Given the description of an element on the screen output the (x, y) to click on. 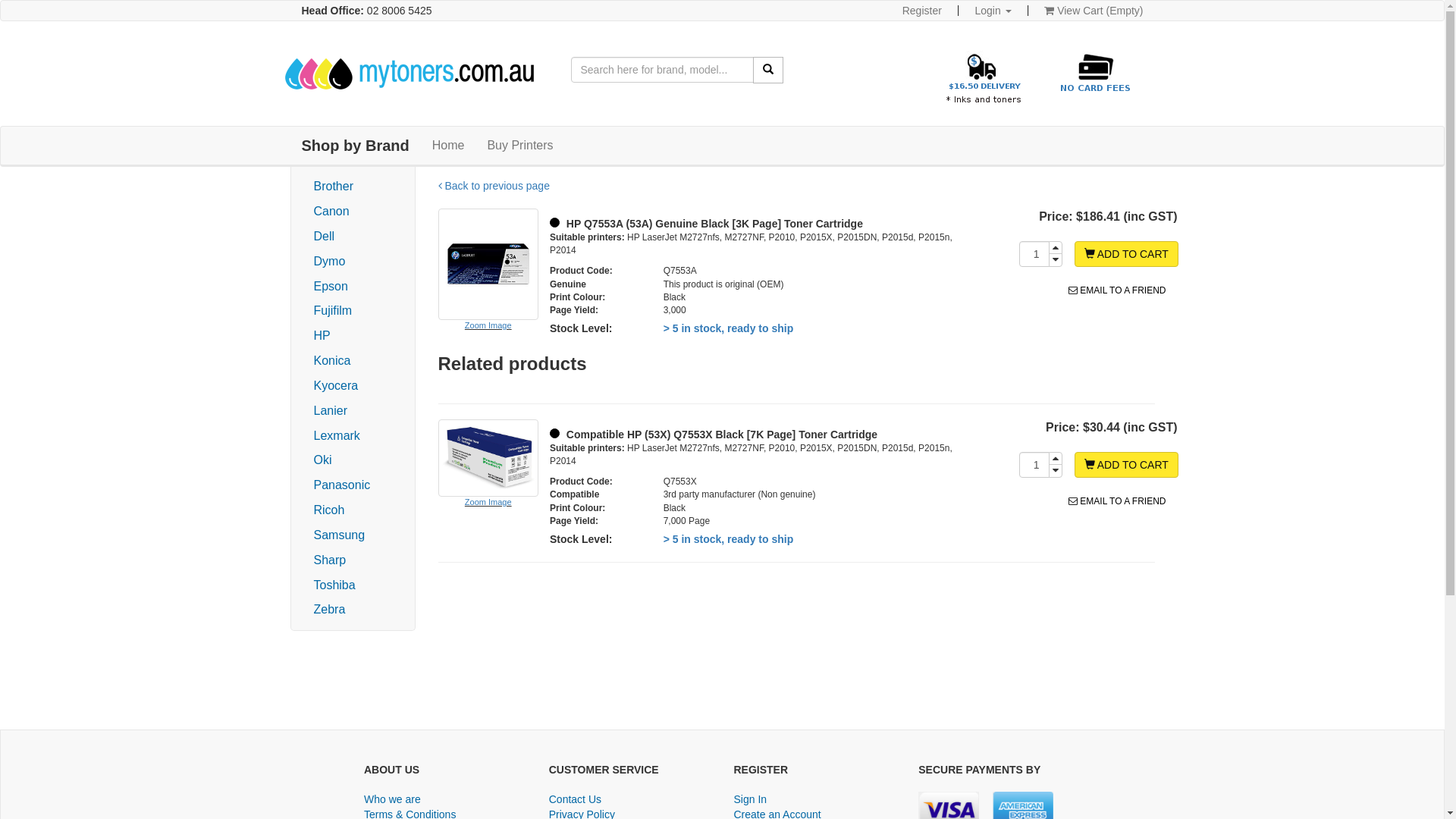
Lanier Element type: text (330, 410)
submit Element type: text (768, 69)
Canon Element type: text (331, 210)
Contact Us Element type: text (575, 801)
Ricoh Element type: text (329, 509)
Home Element type: text (448, 145)
View Cart (Empty) Element type: text (1093, 10)
ADD TO CART Element type: text (1126, 253)
Back to previous page Element type: text (493, 179)
Zebra Element type: text (329, 608)
EMAIL TO A FRIEND Element type: text (1116, 290)
Epson Element type: text (330, 285)
Zoom Image Element type: text (488, 294)
HP Element type: text (321, 335)
Toshiba Element type: text (334, 584)
Compatible HP (53X) Q7553X Black [7K Page] Toner Cartridge Element type: text (713, 434)
Kyocera Element type: text (335, 385)
Dell Element type: text (324, 235)
HP Q7553A (53A) Genuine Black [3K Page] Toner Cartridge Element type: text (705, 223)
Sign In Element type: text (750, 801)
Login Element type: text (992, 10)
Register Element type: text (922, 10)
Dymo Element type: text (329, 260)
ADD TO CART Element type: text (1126, 464)
Oki Element type: text (322, 459)
Sharp Element type: text (329, 559)
Fujifilm Element type: text (332, 310)
Brother Element type: text (333, 185)
Shop by Brand Element type: text (354, 145)
Buy Printers Element type: text (519, 145)
Zoom Image Element type: text (488, 480)
Konica Element type: text (332, 360)
EMAIL TO A FRIEND Element type: text (1116, 500)
Lexmark Element type: text (336, 435)
Who we are Element type: text (392, 801)
Samsung Element type: text (339, 534)
Panasonic Element type: text (341, 484)
